Given the description of an element on the screen output the (x, y) to click on. 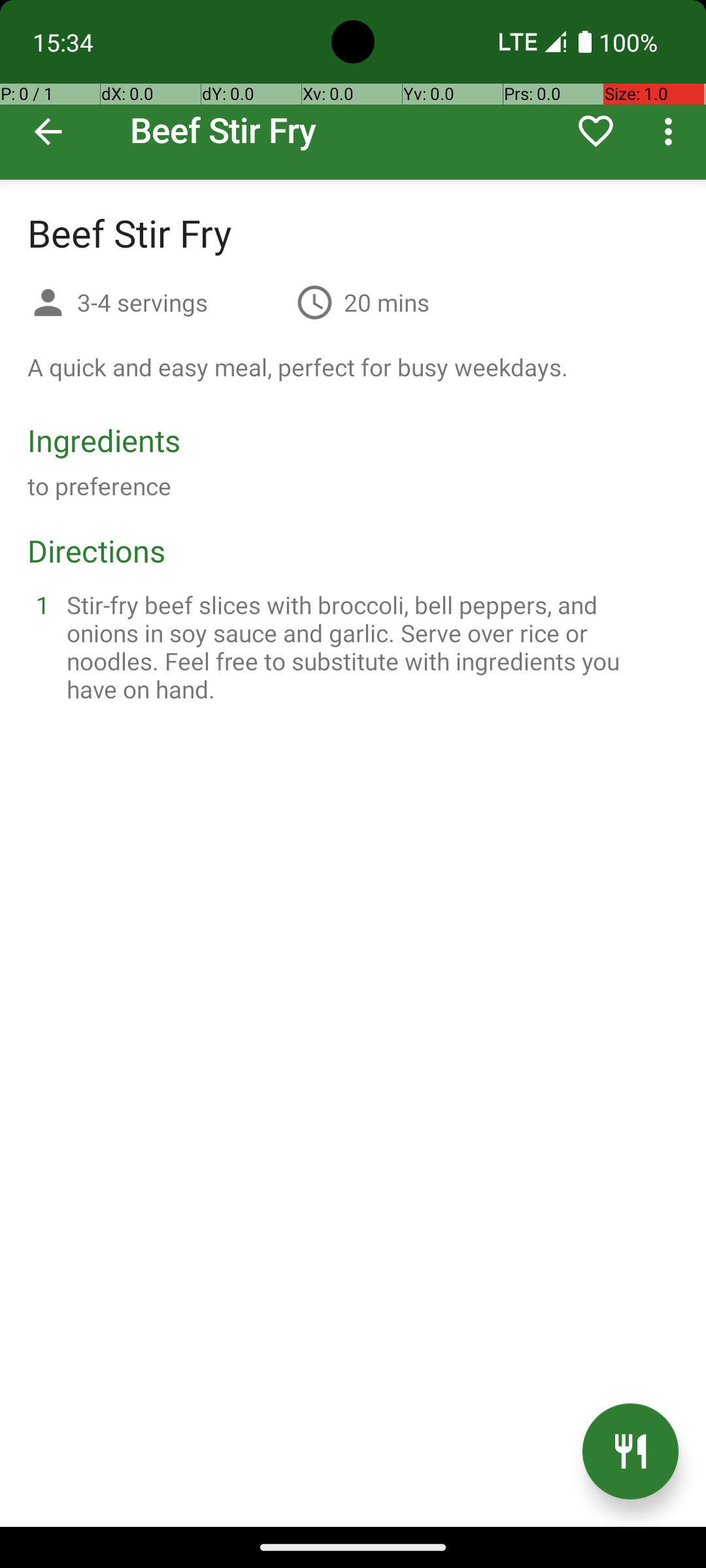
Stir-fry beef slices with broccoli, bell peppers, and onions in soy sauce and garlic. Serve over rice or noodles. Feel free to substitute with ingredients you have on hand. Element type: android.widget.TextView (368, 646)
